Given the description of an element on the screen output the (x, y) to click on. 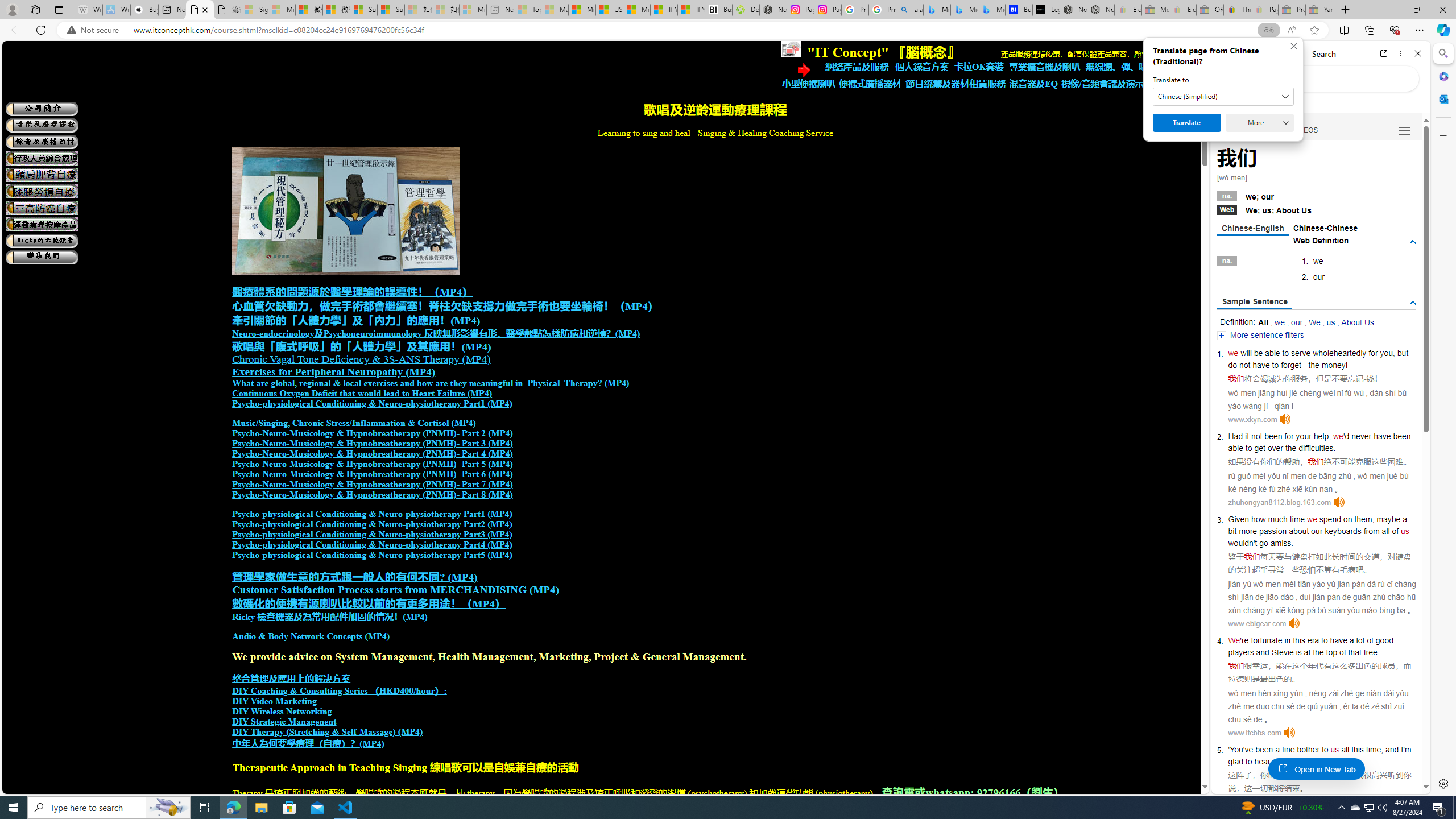
Refresh (40, 29)
will (1246, 352)
IMAGES (1265, 130)
all (1344, 749)
Search Filter, VIDEOS (1304, 129)
